Given the description of an element on the screen output the (x, y) to click on. 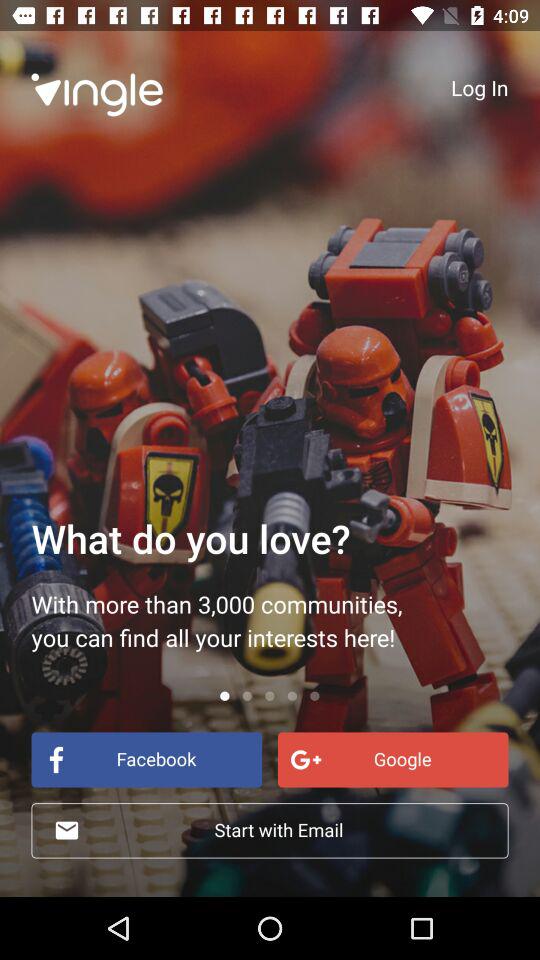
turn off item above the start with email item (146, 759)
